Given the description of an element on the screen output the (x, y) to click on. 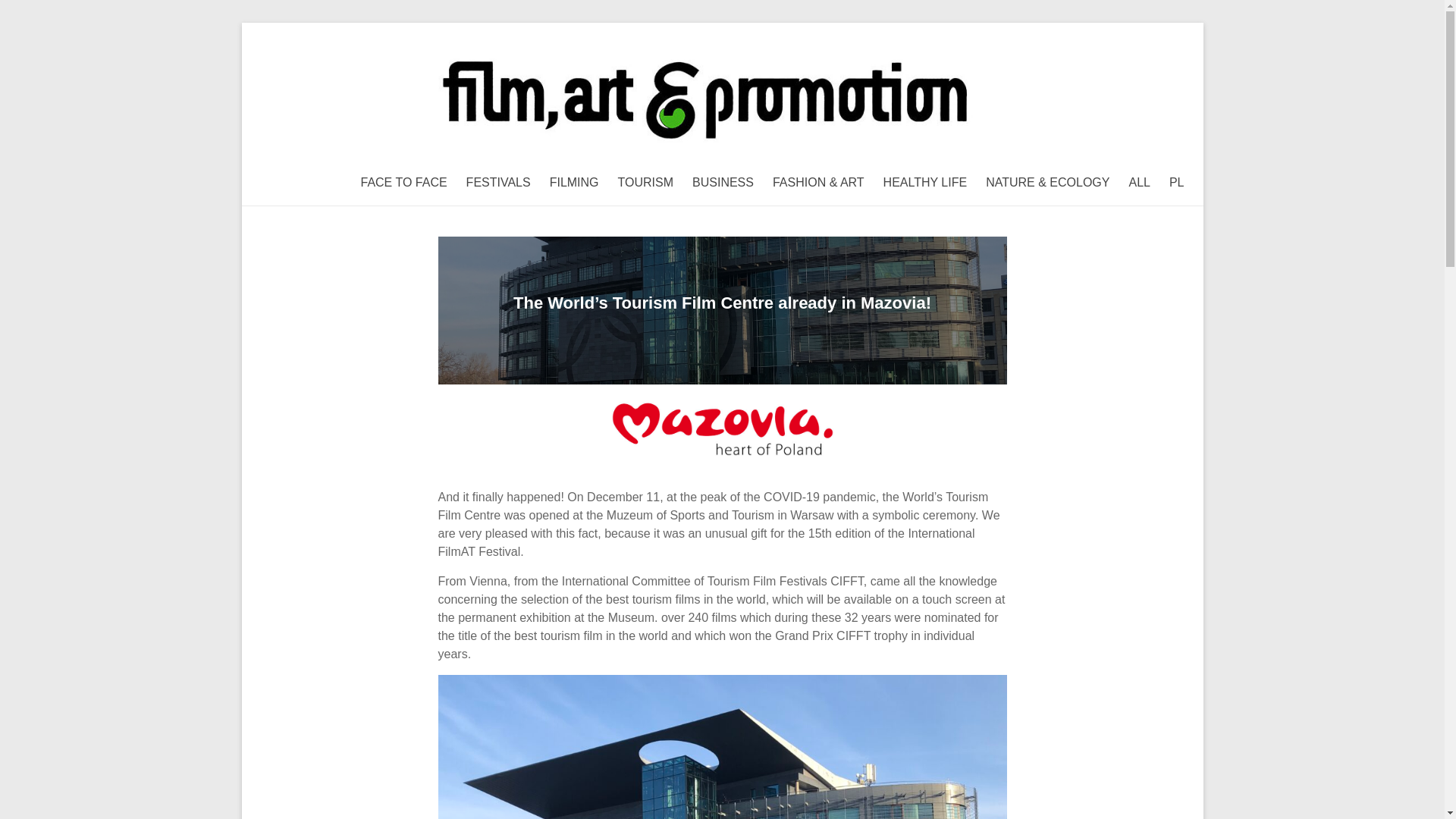
BUSINESS (723, 182)
TOURISM (644, 182)
PL (1177, 182)
FACE TO FACE (403, 182)
ALL (1139, 182)
FESTIVALS (498, 182)
HEALTHY LIFE (925, 182)
FILMING (574, 182)
